Given the description of an element on the screen output the (x, y) to click on. 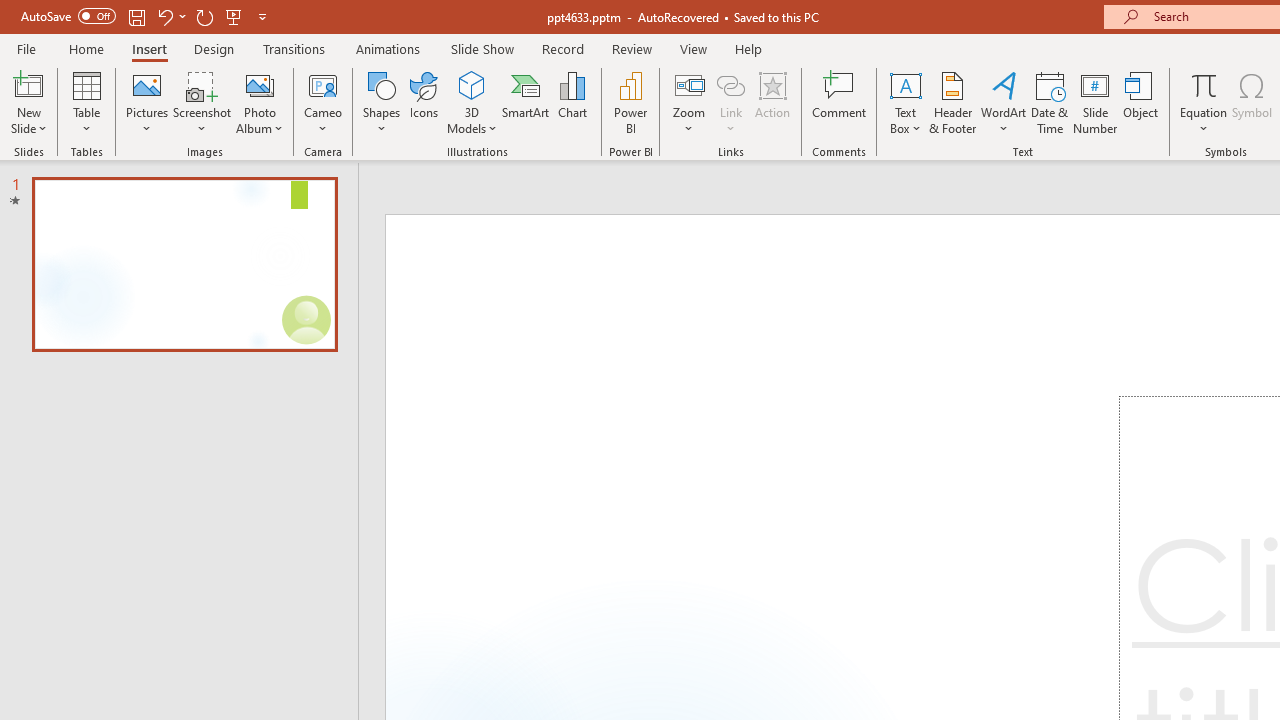
Equation (1203, 102)
Date & Time... (1050, 102)
Equation (1203, 84)
Power BI (630, 102)
SmartArt... (525, 102)
Icons (424, 102)
